Given the description of an element on the screen output the (x, y) to click on. 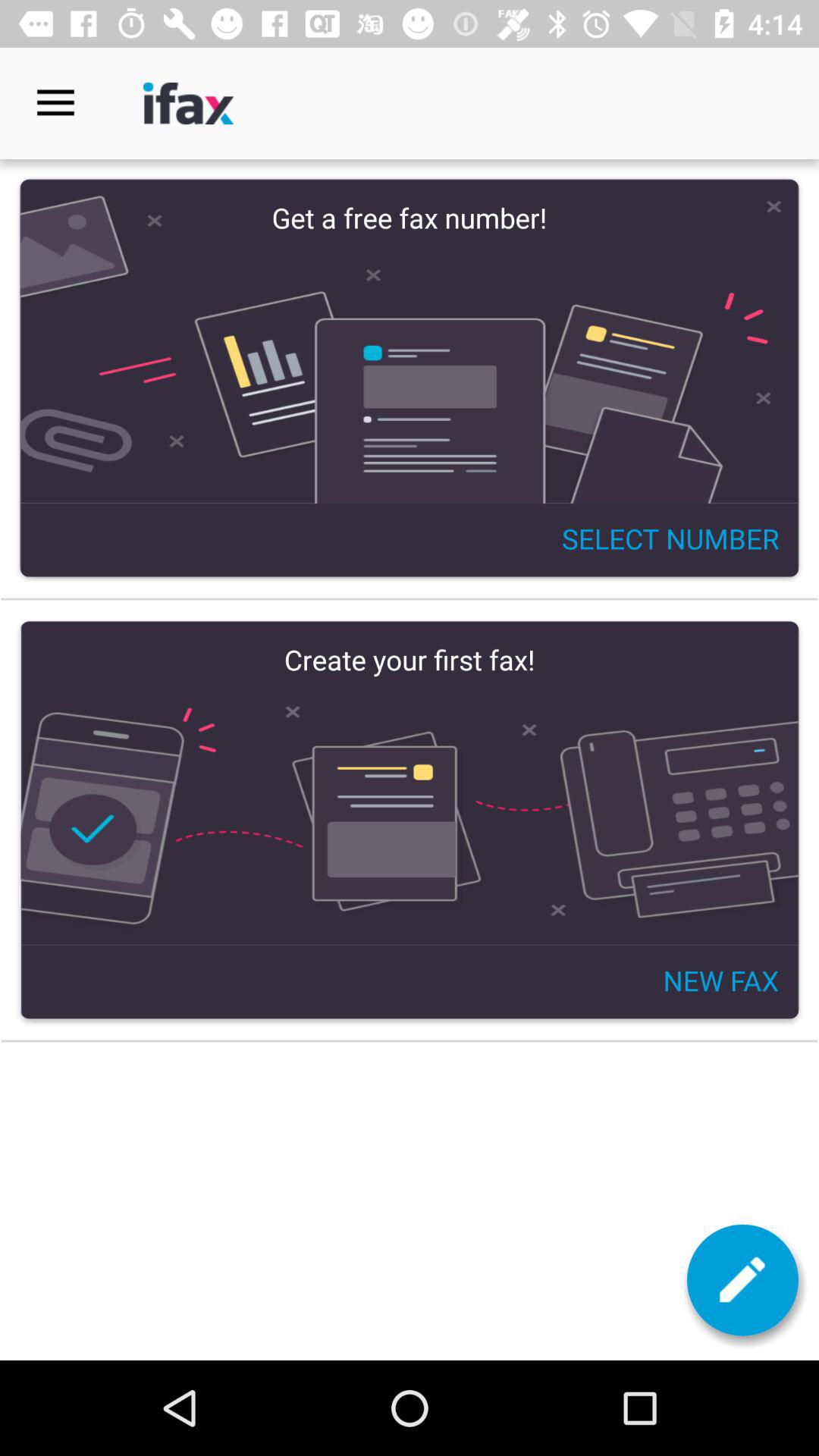
write (742, 1280)
